Given the description of an element on the screen output the (x, y) to click on. 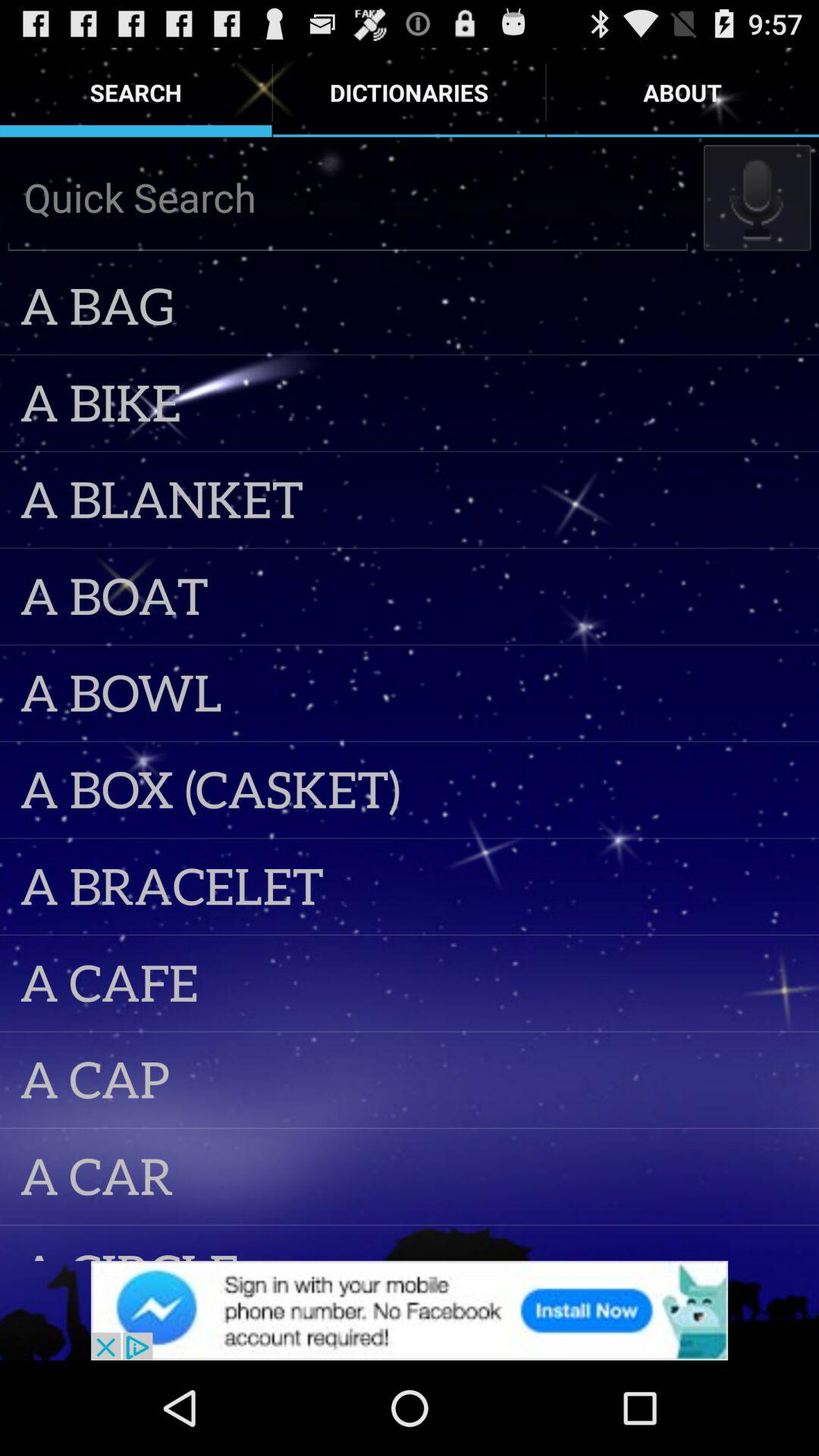
search textbox (347, 197)
